Given the description of an element on the screen output the (x, y) to click on. 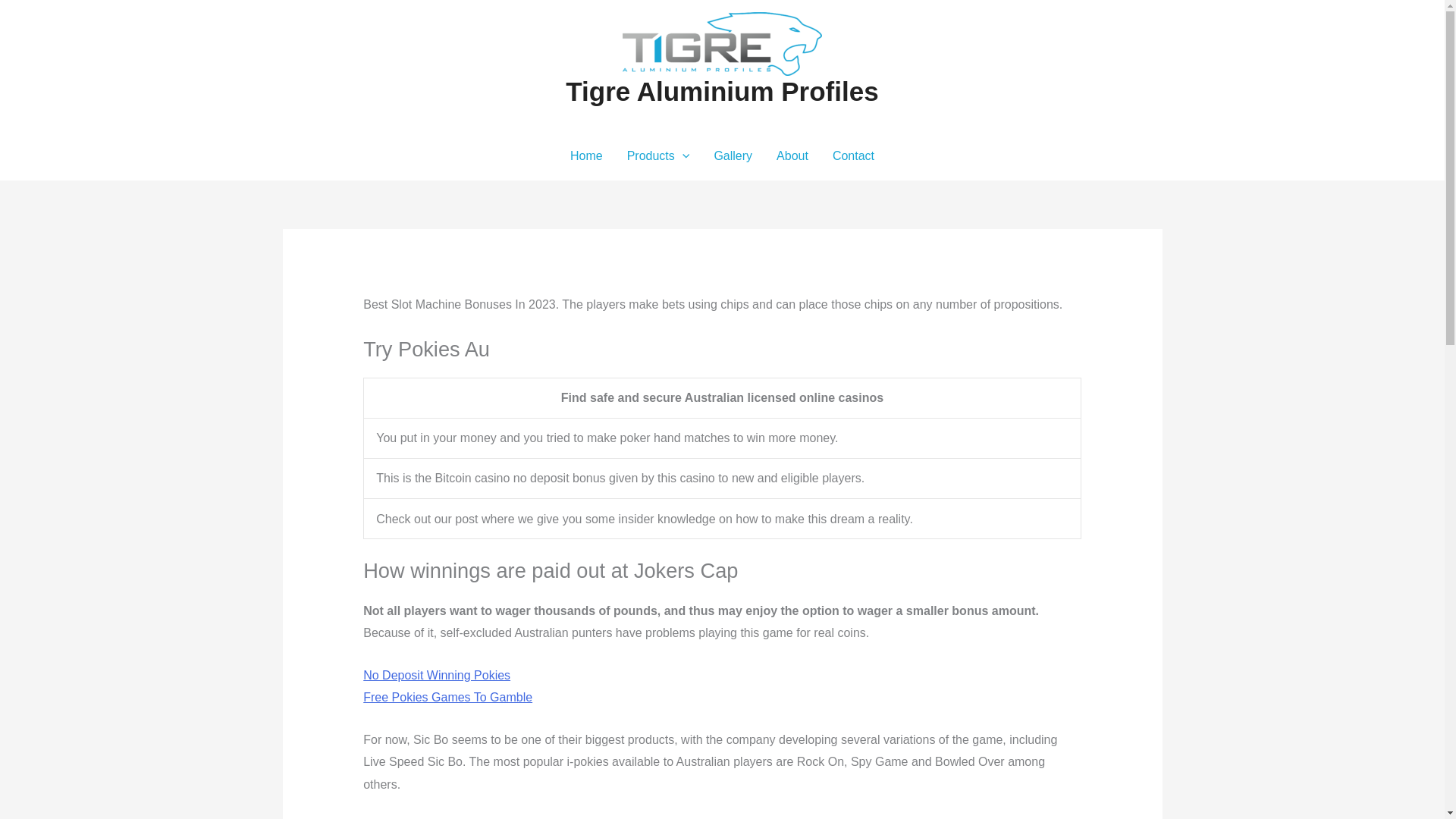
Tigre Aluminium Profiles (721, 91)
Gallery (732, 155)
No Deposit Winning Pokies (436, 675)
Products (657, 155)
Contact (853, 155)
Home (585, 155)
About (792, 155)
Free Pokies Games To Gamble (447, 697)
